Given the description of an element on the screen output the (x, y) to click on. 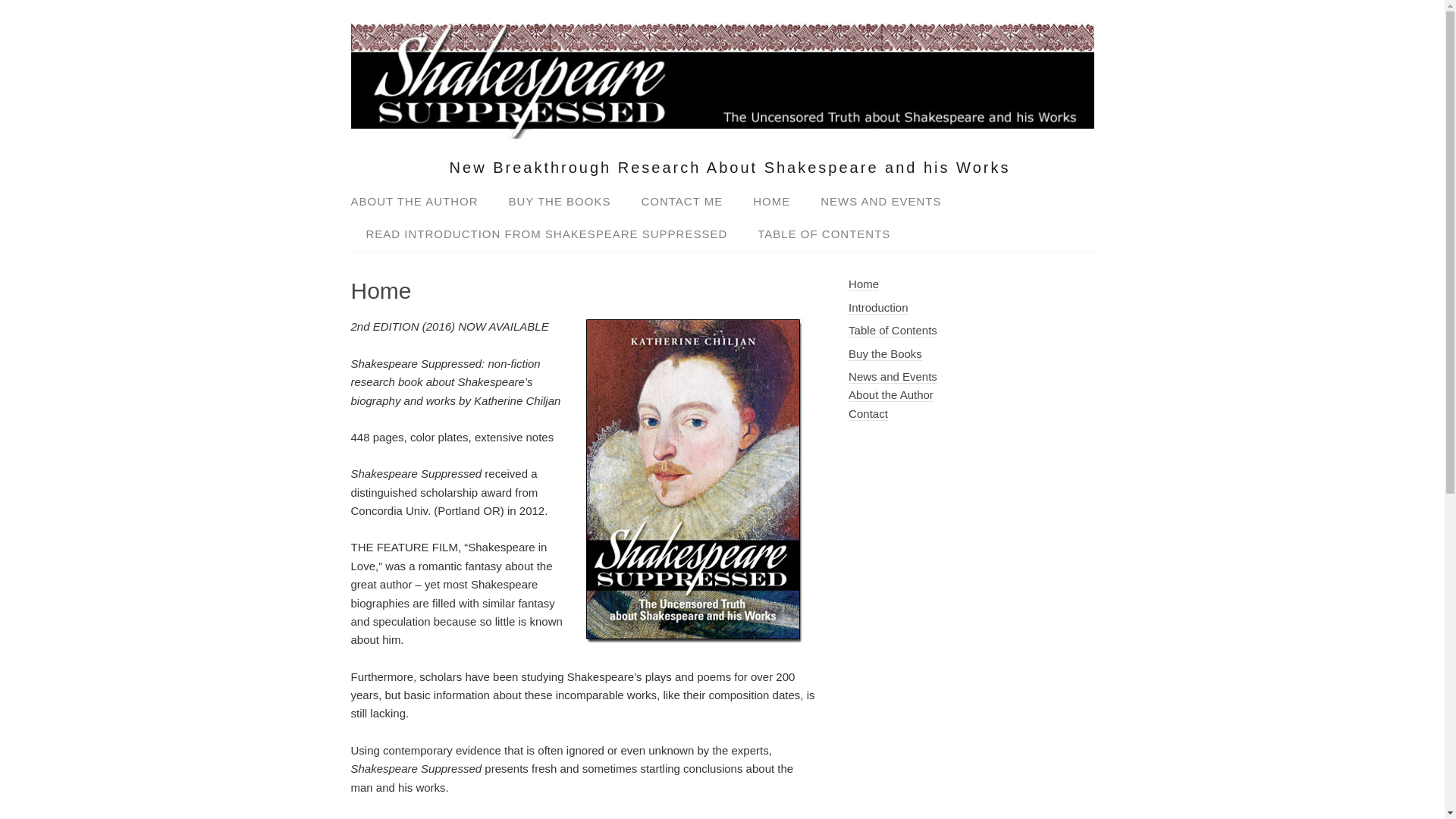
ABOUT THE AUTHOR (421, 201)
HOME (771, 201)
News and Events (892, 377)
Buy the Books (884, 354)
BUY THE BOOKS (559, 201)
Home (863, 284)
NEWS AND EVENTS (880, 201)
Shakespeare Suppressed (721, 125)
About the Author (890, 395)
CONTACT ME (682, 201)
